Given the description of an element on the screen output the (x, y) to click on. 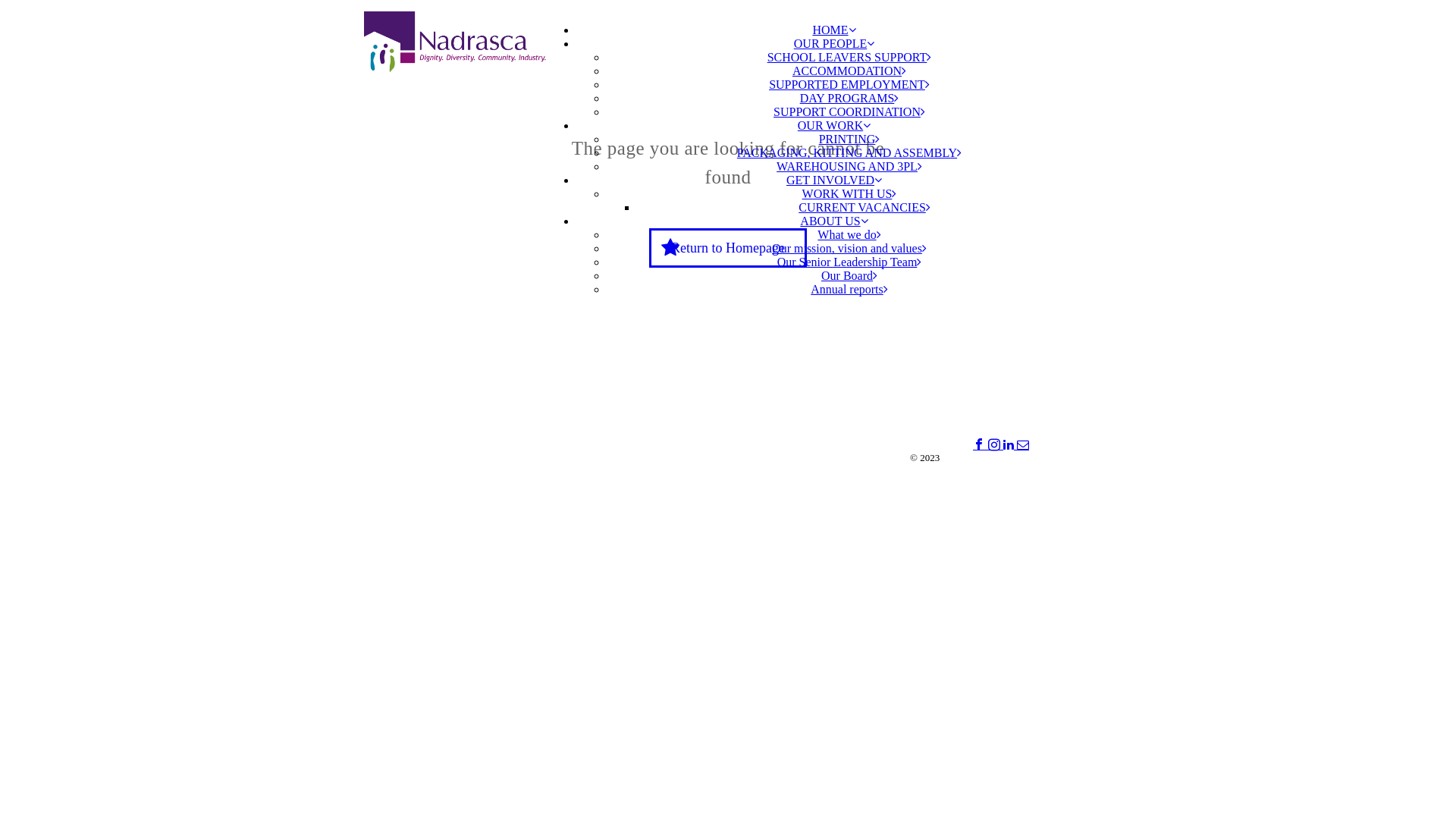
Our Board Element type: text (849, 275)
Nadrasca's Constitution Element type: text (637, 632)
DAY PROGRAMS Element type: text (849, 97)
Our Senior Leadership Team Element type: text (849, 261)
WAREHOUSING AND 3PL Element type: text (849, 166)
Privacy Procedure Element type: text (637, 541)
CURRENT VACANCIES Element type: text (864, 206)
WORK WITH US Element type: text (849, 193)
Annual reports Element type: text (849, 288)
GET INVOLVED Element type: text (833, 179)
Our mission, vision and values Element type: text (848, 247)
OUR WORK Element type: text (833, 125)
PRINTING Element type: text (849, 138)
ACCOMMODATION Element type: text (849, 70)
SUPPORT COORDINATION Element type: text (849, 111)
ABOUT US Element type: text (833, 220)
Return to Homepage Element type: text (727, 247)
SCHOOL LEAVERS SUPPORT Element type: text (849, 56)
ISO Quality Polic Element type: text (634, 602)
Feedback and Complaints - For people supported Element type: text (637, 500)
SUPPORTED EMPLOYMENT Element type: text (848, 84)
OUR PEOPLE Element type: text (833, 43)
Feedback and Complaints Element type: text (636, 460)
HOME Element type: text (833, 29)
PACKAGING, KITTING AND ASSEMBLY Element type: text (849, 152)
What we do Element type: text (848, 234)
Whistle-blower Protection Procedure Element type: text (637, 574)
